Given the description of an element on the screen output the (x, y) to click on. 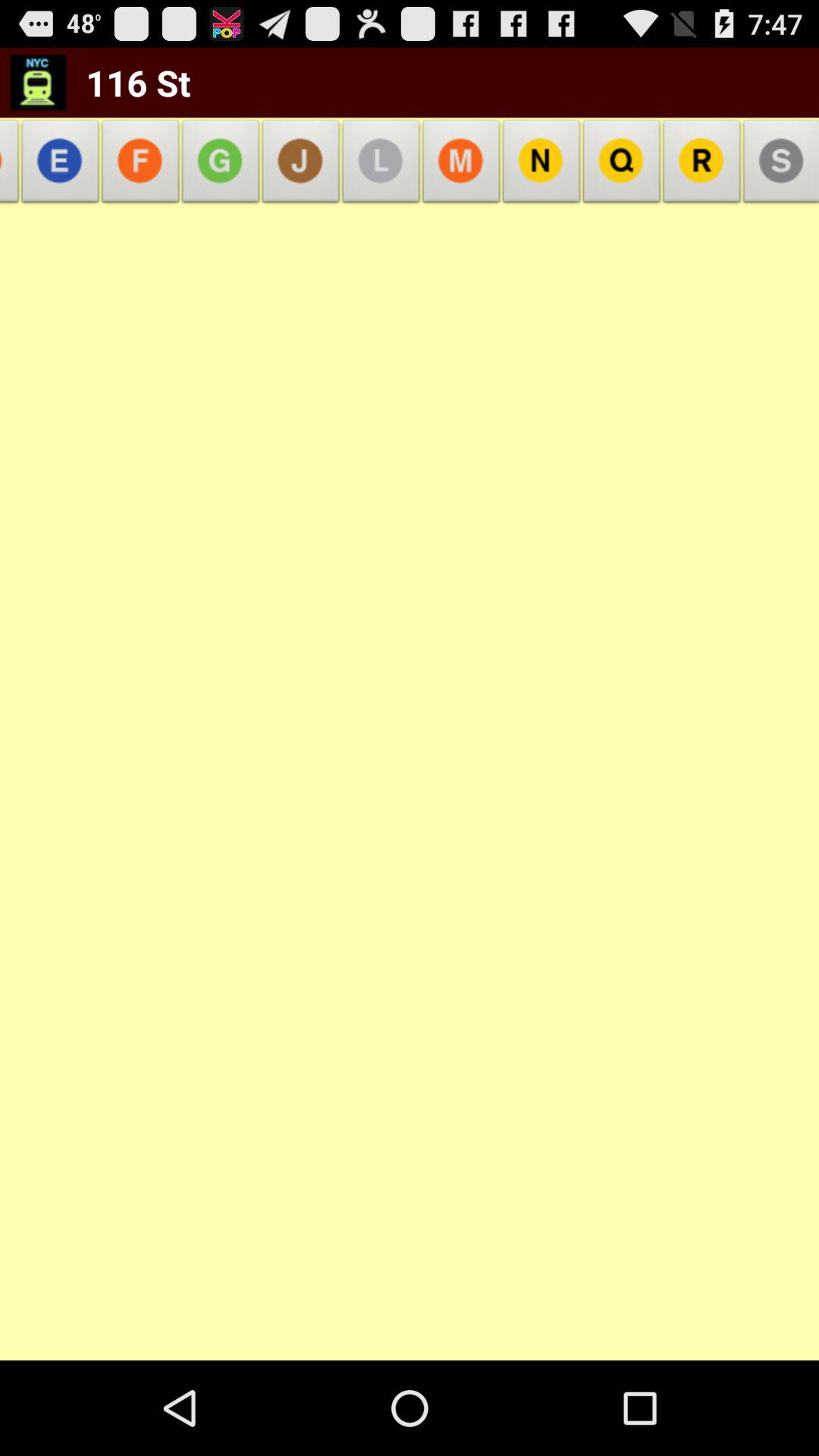
select item to the left of 116 st (13, 165)
